Given the description of an element on the screen output the (x, y) to click on. 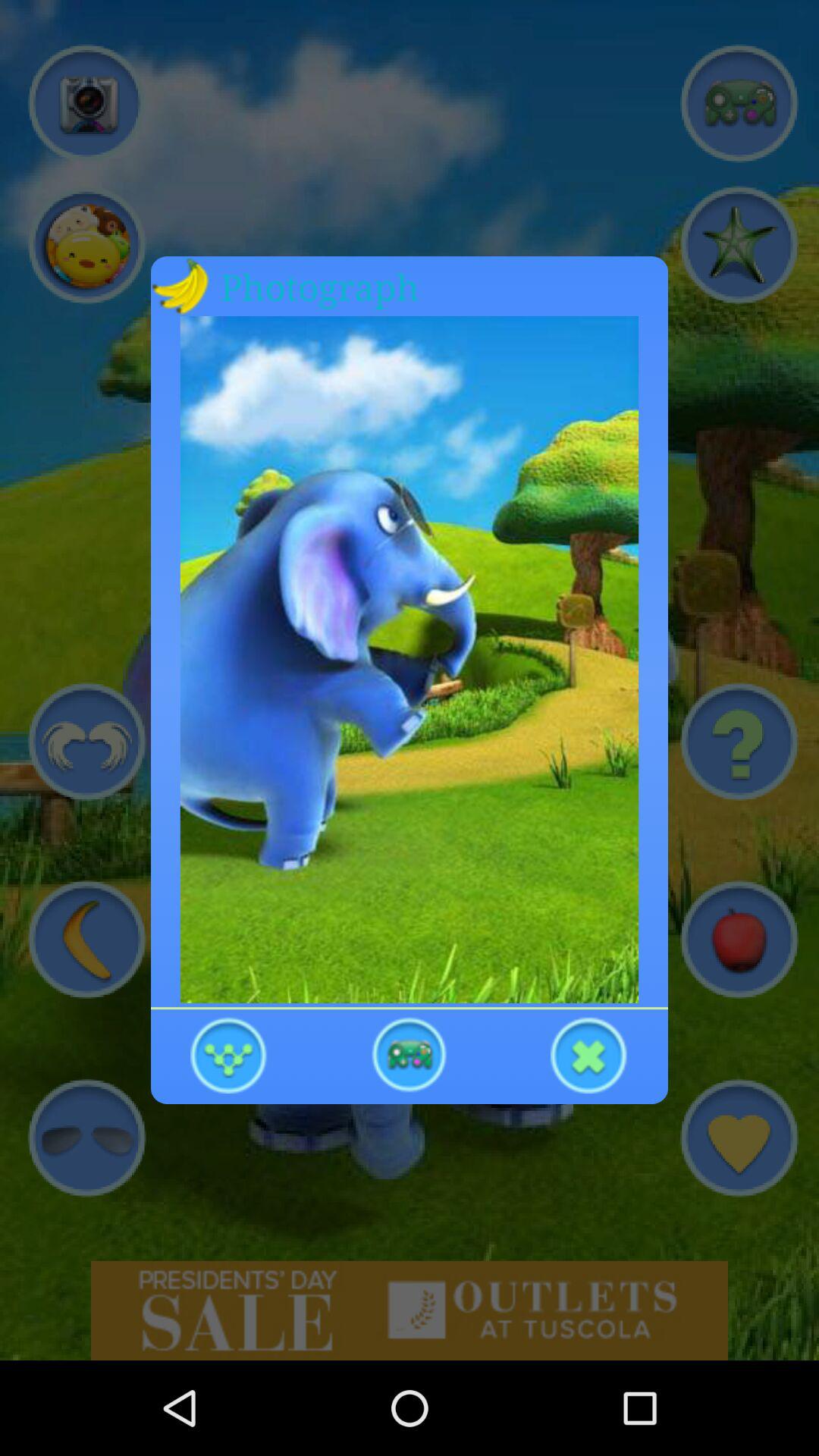
select the item at the bottom right corner (589, 1054)
